Given the description of an element on the screen output the (x, y) to click on. 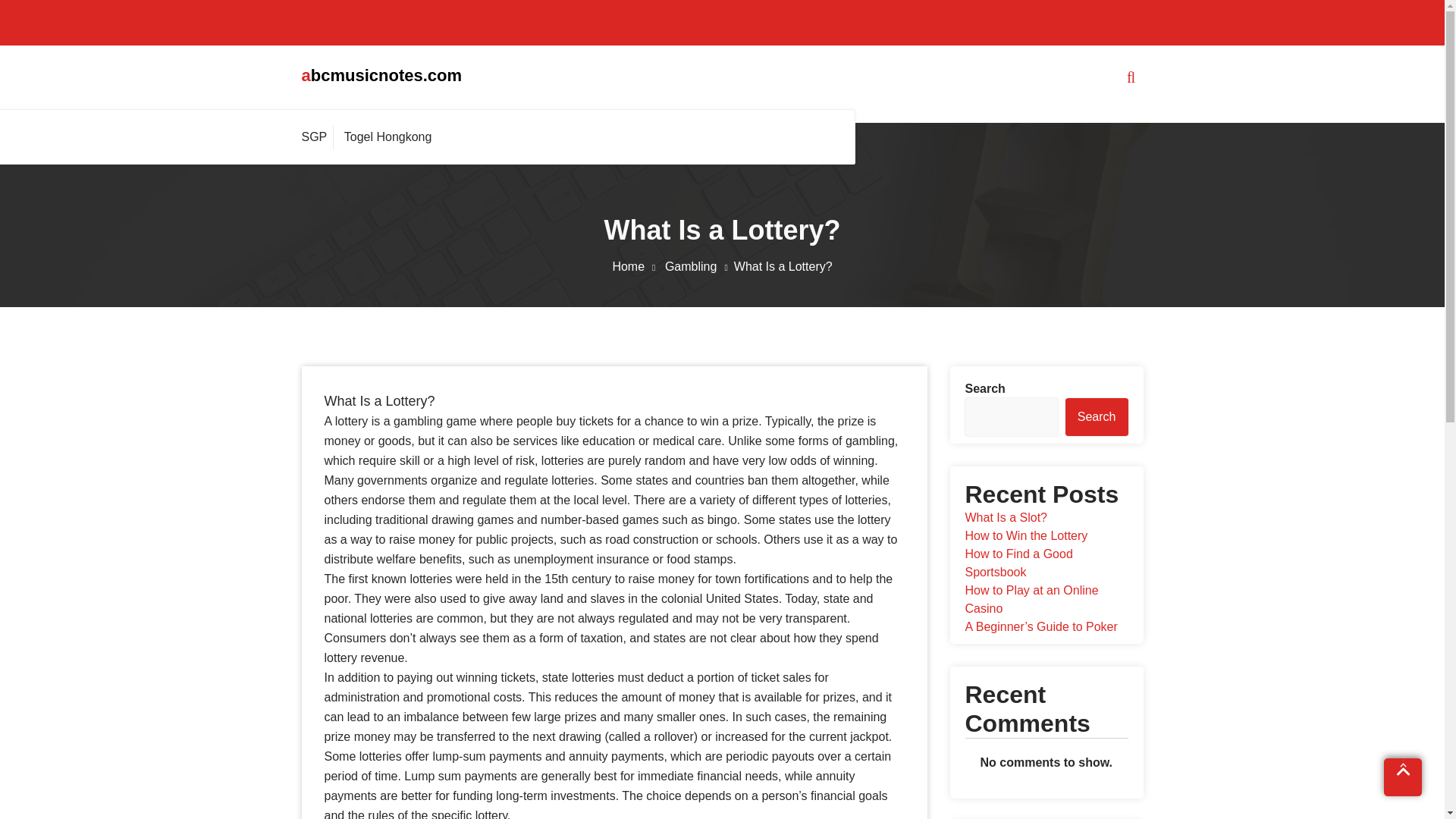
What Is a Slot? (1004, 517)
How to Win the Lottery (1025, 535)
Search (1096, 416)
Togel Hongkong (388, 136)
Gambling (699, 266)
How to Find a Good Sportsbook (1017, 562)
How to Play at an Online Casino (1030, 599)
Togel Hongkong (388, 136)
SGP (317, 136)
SGP (317, 136)
abcmusicnotes.com (382, 75)
Home (636, 266)
